Given the description of an element on the screen output the (x, y) to click on. 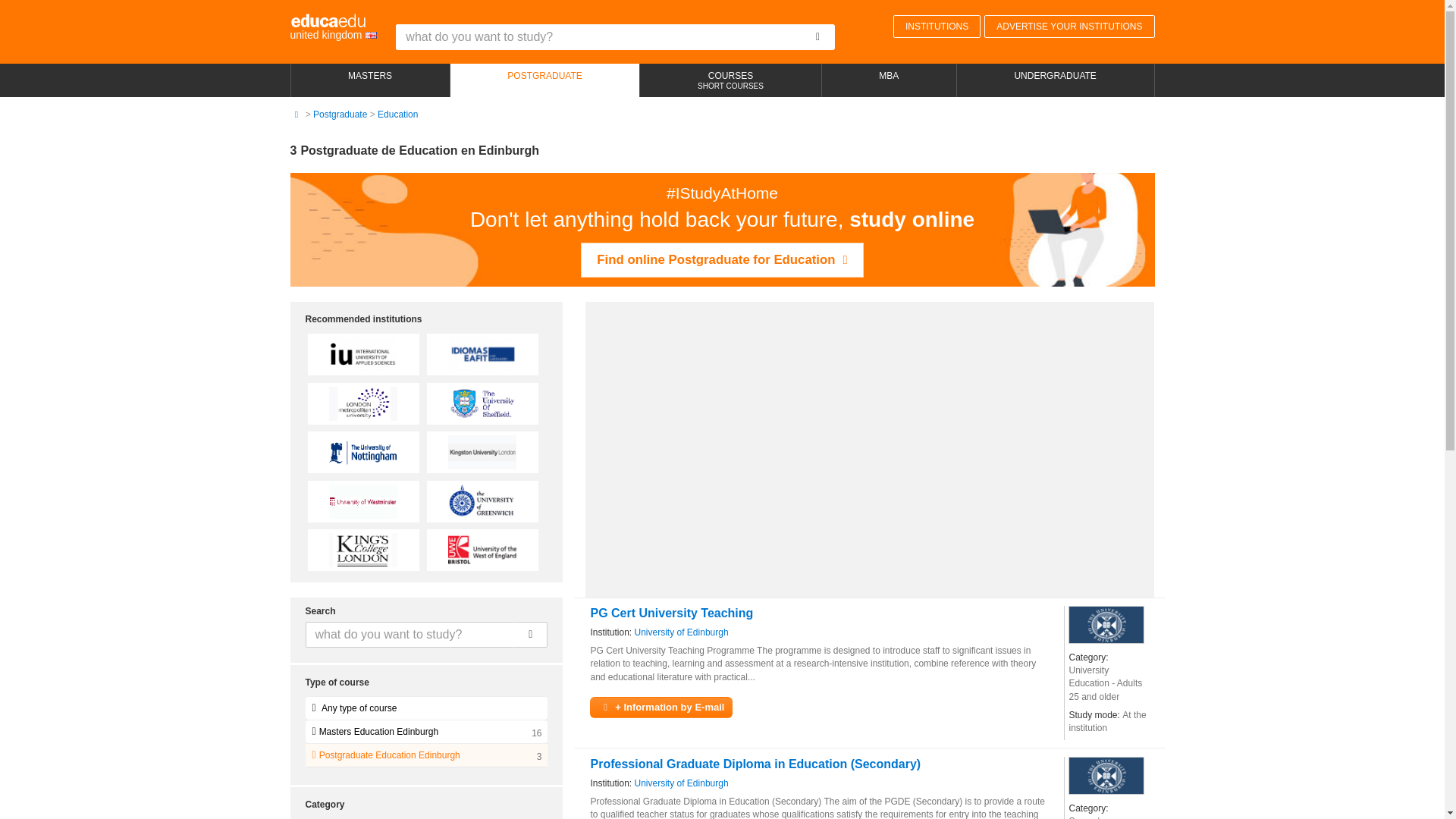
University of Edinburgh (1106, 775)
POSTGRADUATE (544, 80)
Masters (370, 80)
INSTITUTIONS (936, 26)
PG Cert University Teaching (670, 613)
Advertise your institutions (1069, 26)
University of Edinburgh (681, 632)
University of Edinburgh (681, 783)
University of Edinburgh (1106, 624)
Go to Home (295, 113)
